Given the description of an element on the screen output the (x, y) to click on. 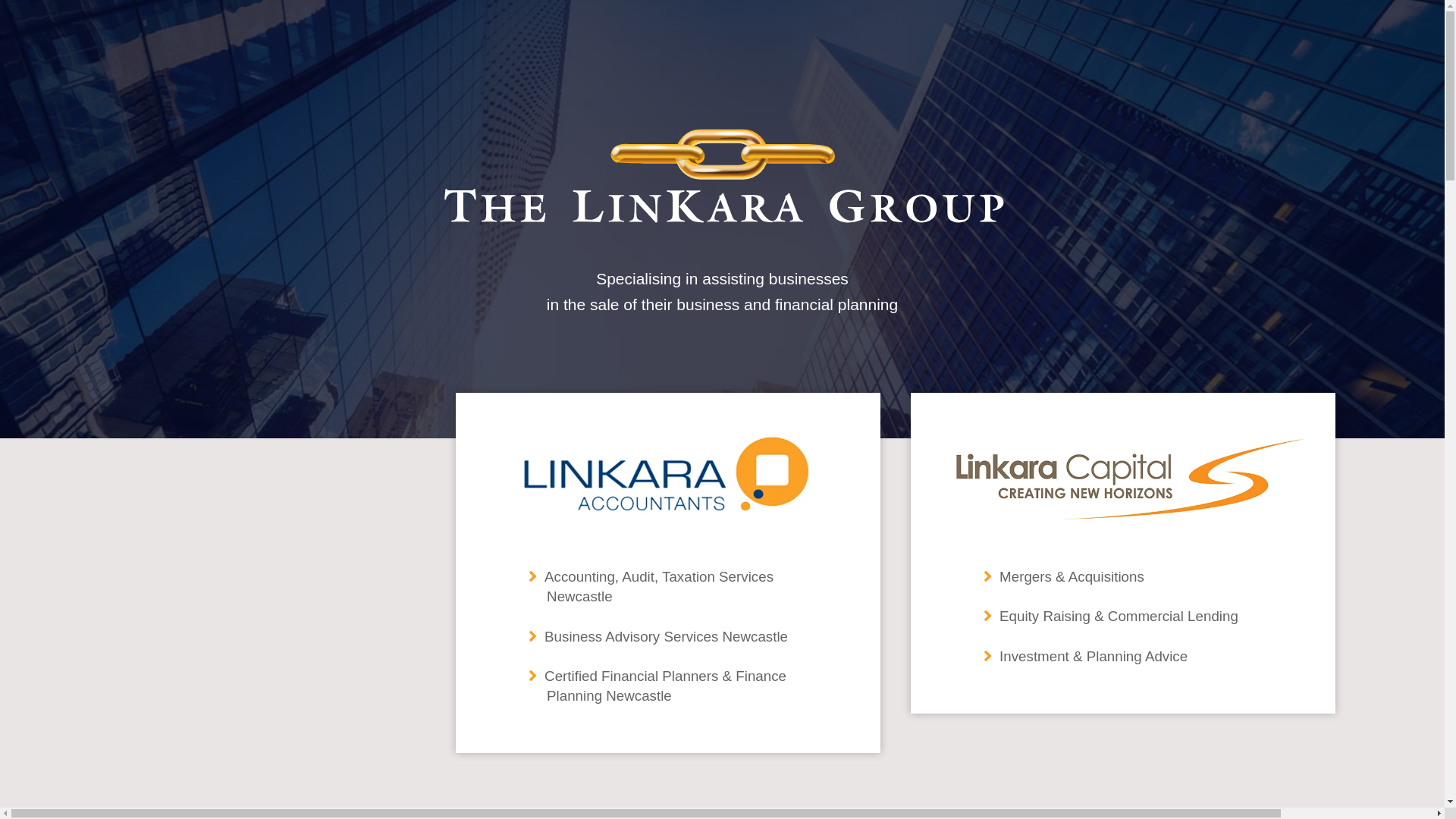
Certified Financial Planners & Finance Planning Newcastle Element type: text (665, 685)
Investment & Planning Advice Element type: text (1093, 656)
Mergers & Acquisitions Element type: text (1071, 576)
Business Advisory Services Newcastle Element type: text (665, 636)
Accounting, Audit, Taxation Services Newcastle Element type: text (658, 586)
Equity Raising & Commercial Lending Element type: text (1118, 616)
